Given the description of an element on the screen output the (x, y) to click on. 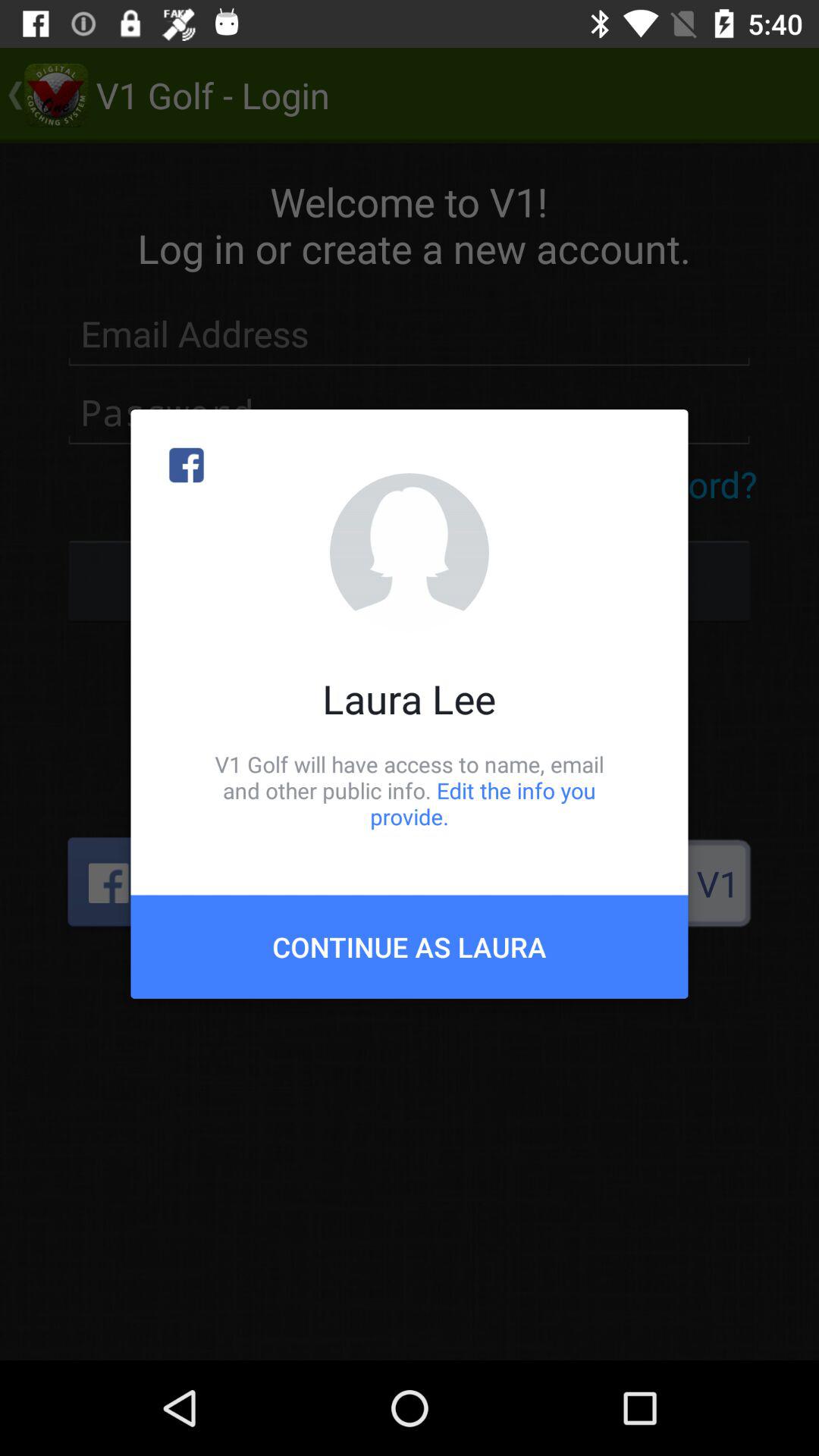
turn on v1 golf will icon (409, 790)
